Given the description of an element on the screen output the (x, y) to click on. 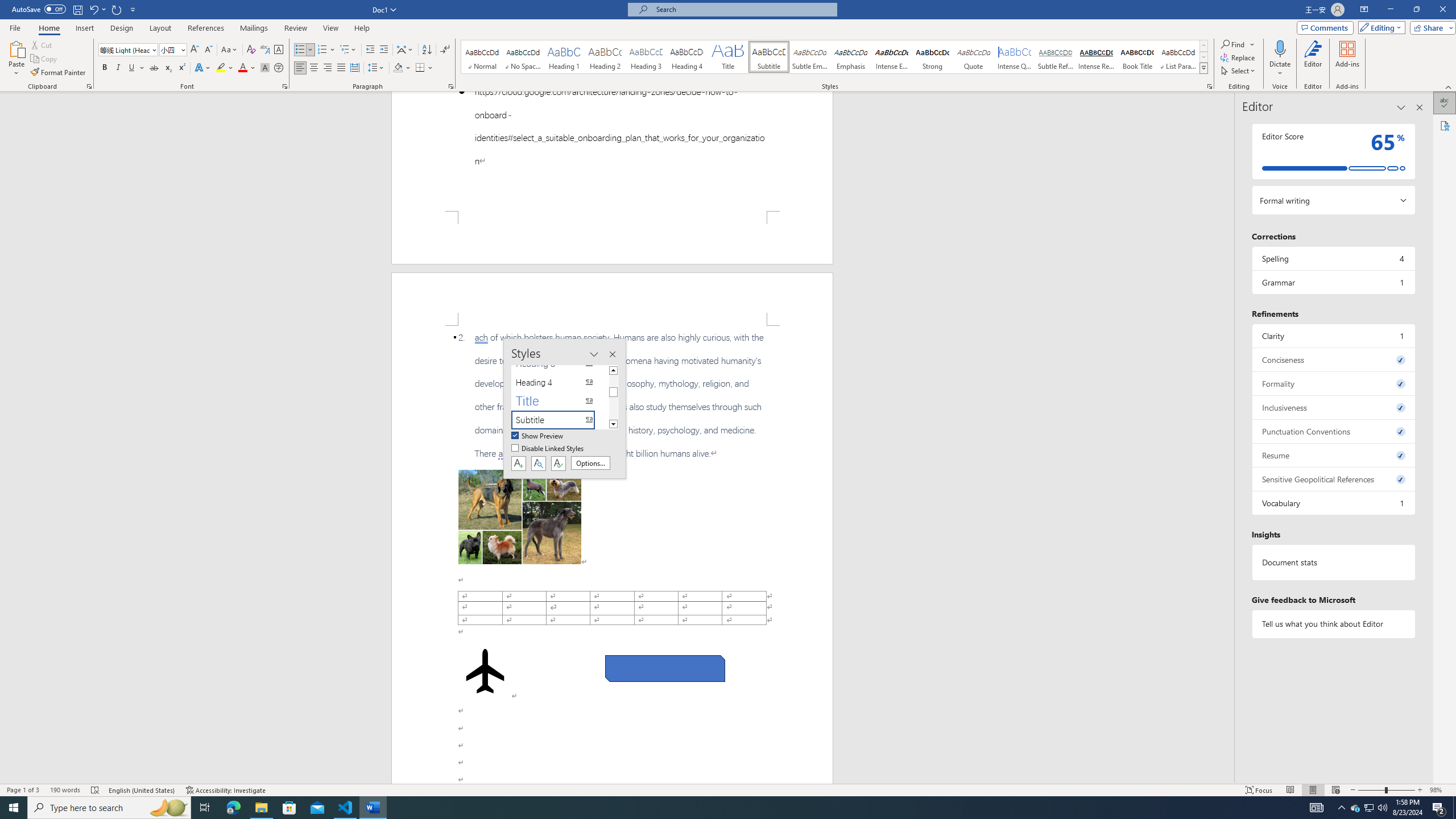
Sort... (426, 49)
Zoom (1386, 790)
Office Clipboard... (88, 85)
Class: MsoCommandBar (728, 789)
2. (611, 395)
Paragraph... (450, 85)
Class: NetUIScrollBar (1229, 437)
Format Painter (58, 72)
